Given the description of an element on the screen output the (x, y) to click on. 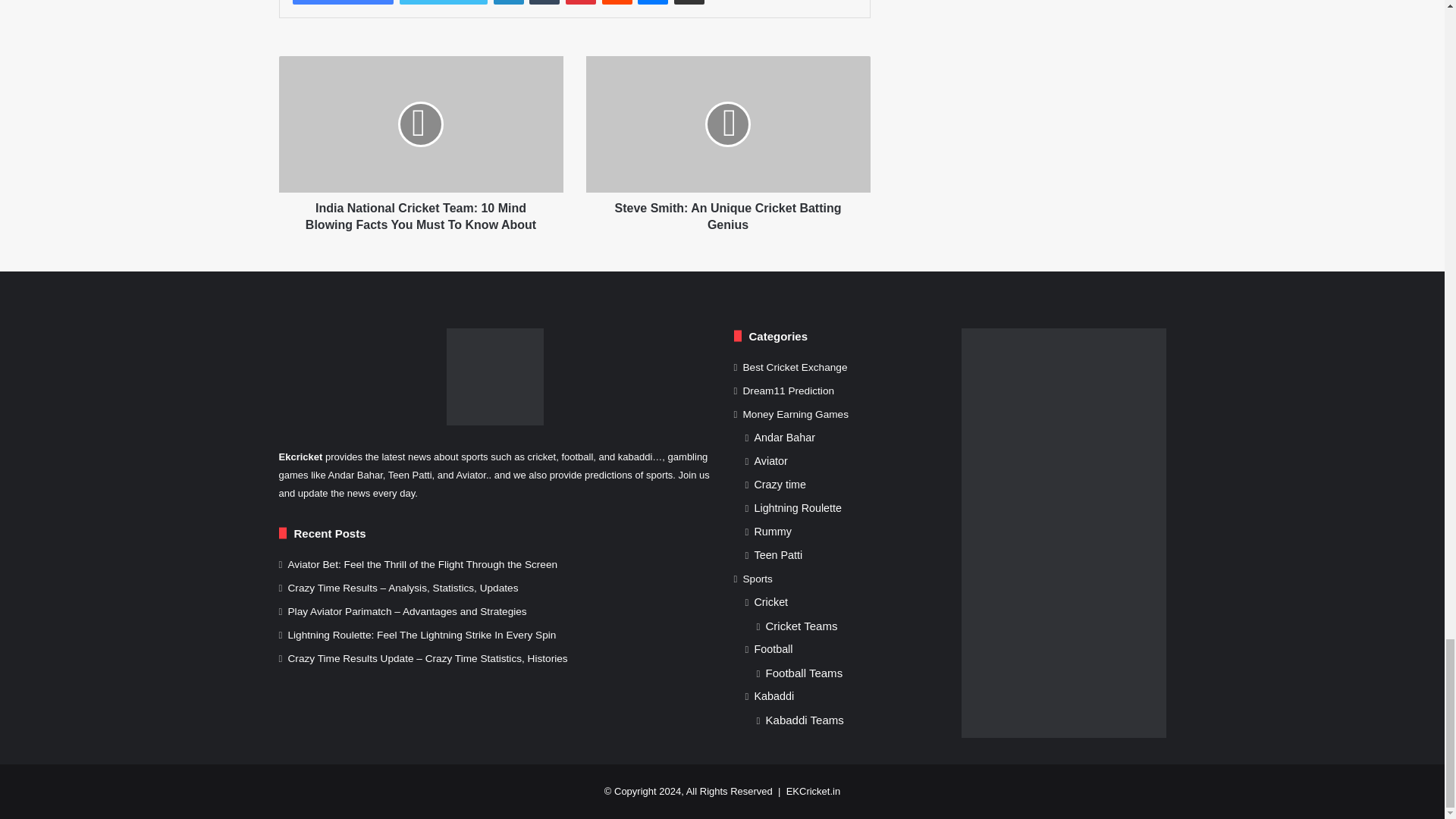
Tumblr (544, 2)
Facebook (343, 2)
LinkedIn (508, 2)
Reddit (616, 2)
Pinterest (580, 2)
Messenger (652, 2)
Twitter (442, 2)
